Given the description of an element on the screen output the (x, y) to click on. 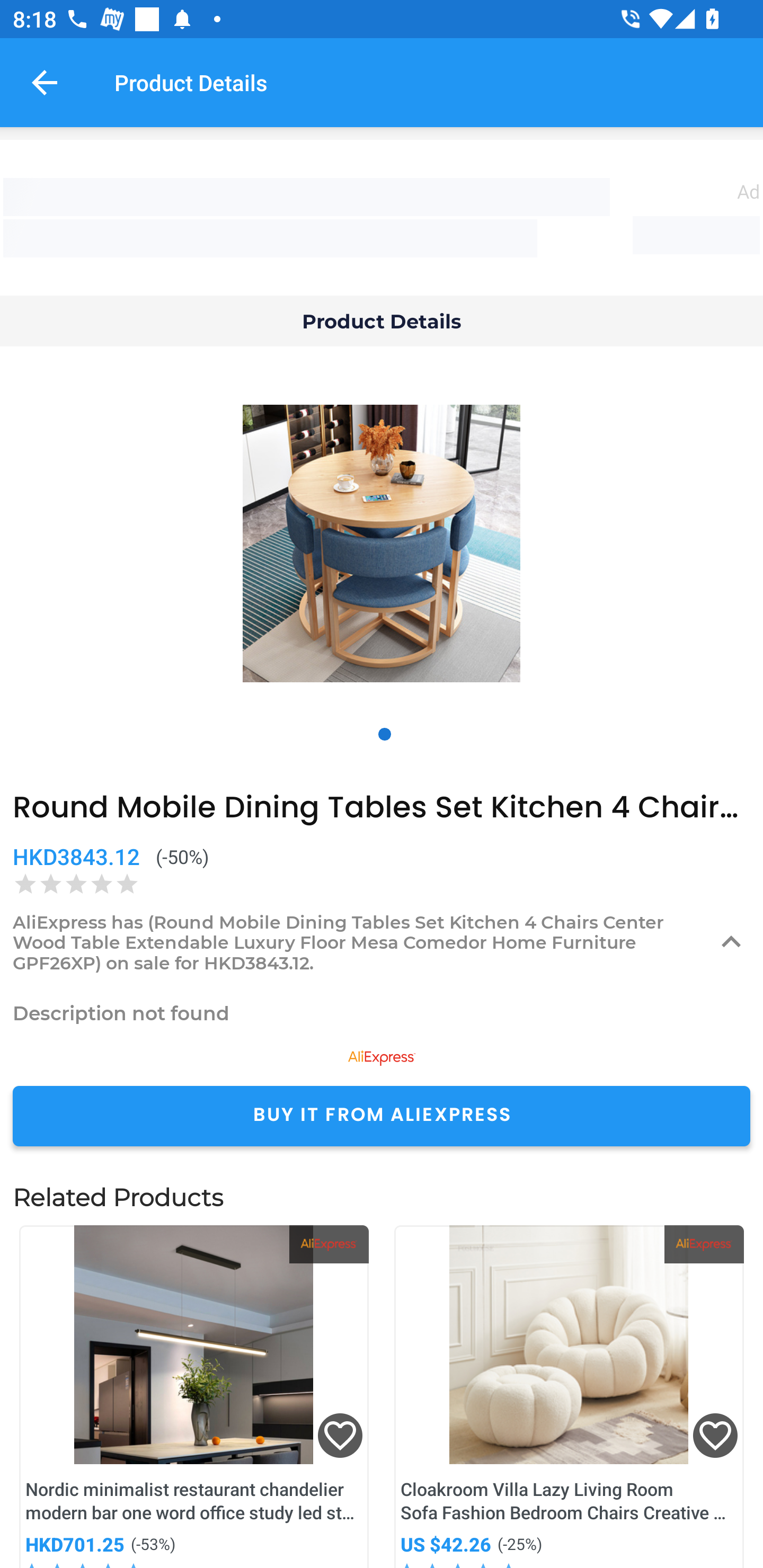
Navigate up (44, 82)
Description not found (381, 1012)
BUY IT FROM ALIEXPRESS (381, 1115)
